Given the description of an element on the screen output the (x, y) to click on. 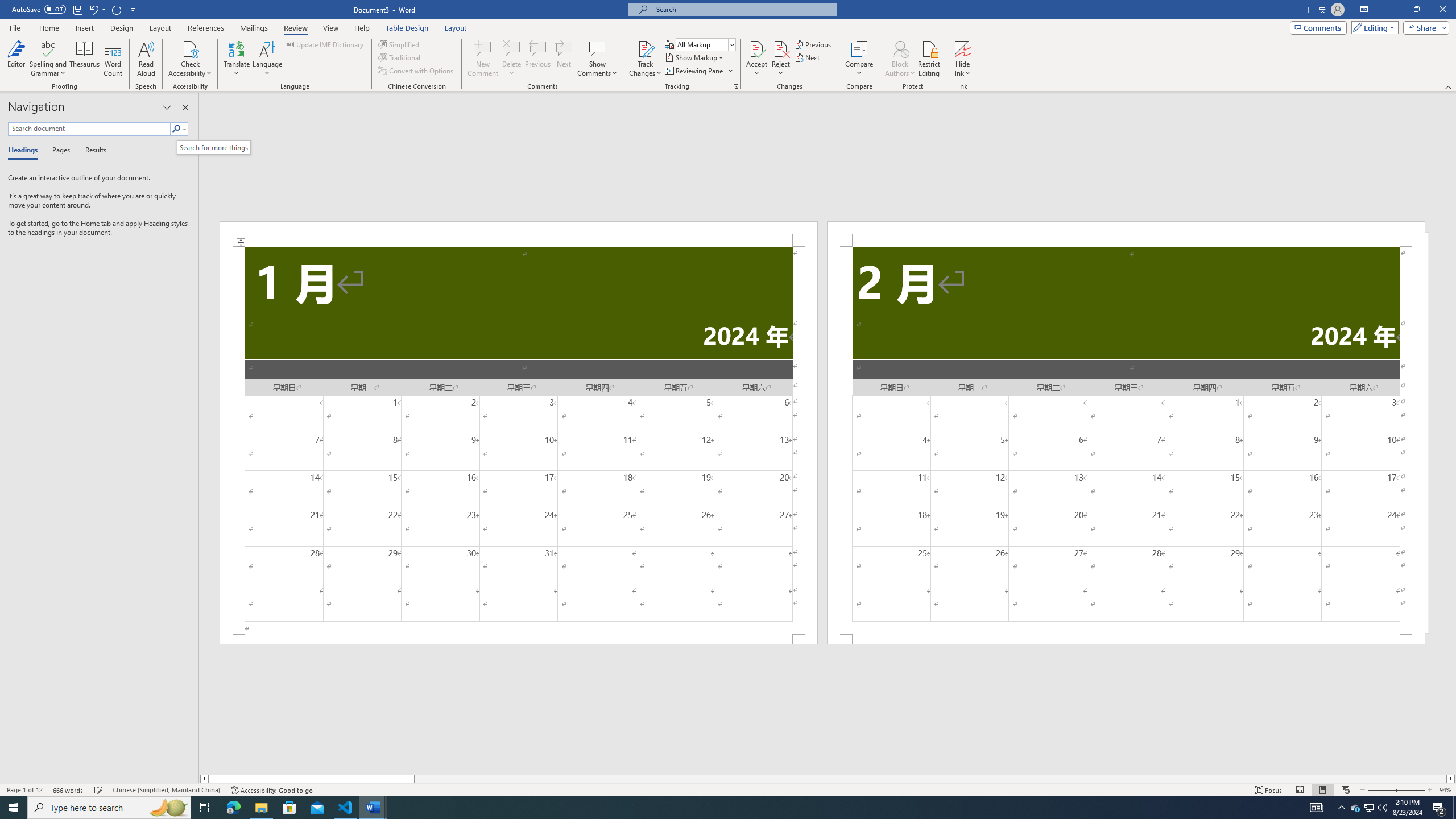
Reviewing Pane (694, 69)
Restrict Editing (929, 58)
Language (267, 58)
Delete (511, 48)
